Given the description of an element on the screen output the (x, y) to click on. 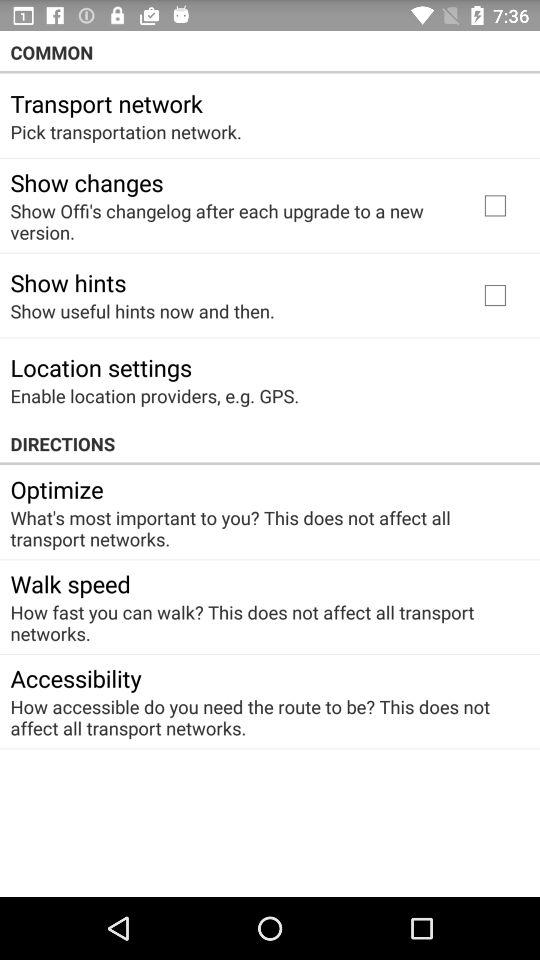
launch app below the accessibility app (263, 717)
